Given the description of an element on the screen output the (x, y) to click on. 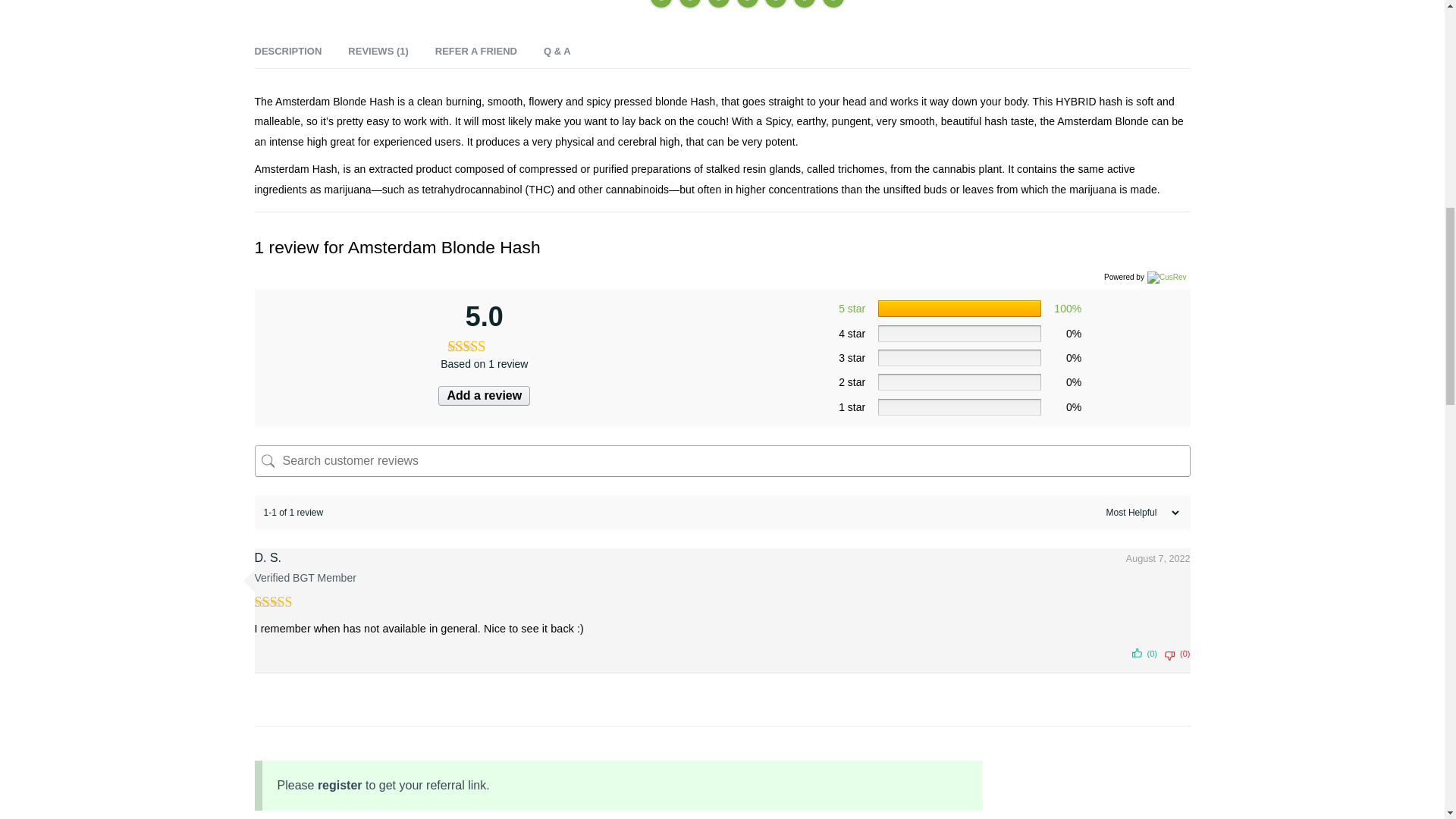
Facebook (660, 4)
Twitter (689, 4)
LinkedIn (718, 4)
Tumblr (804, 4)
Email (774, 4)
Pinterest (747, 4)
